Given the description of an element on the screen output the (x, y) to click on. 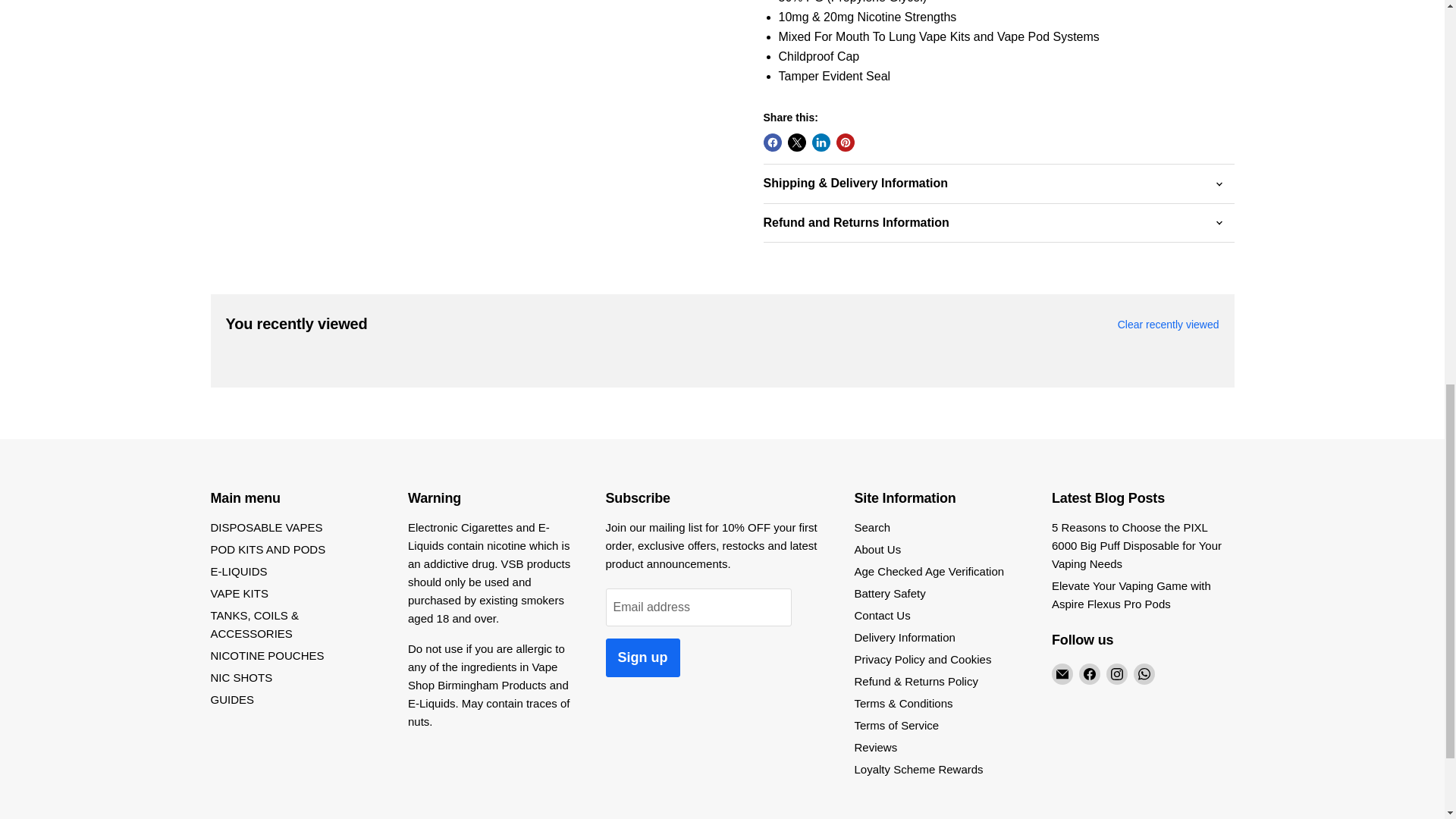
WhatsApp (1144, 673)
Email (1062, 673)
Facebook (1089, 673)
Instagram (1116, 673)
